Given the description of an element on the screen output the (x, y) to click on. 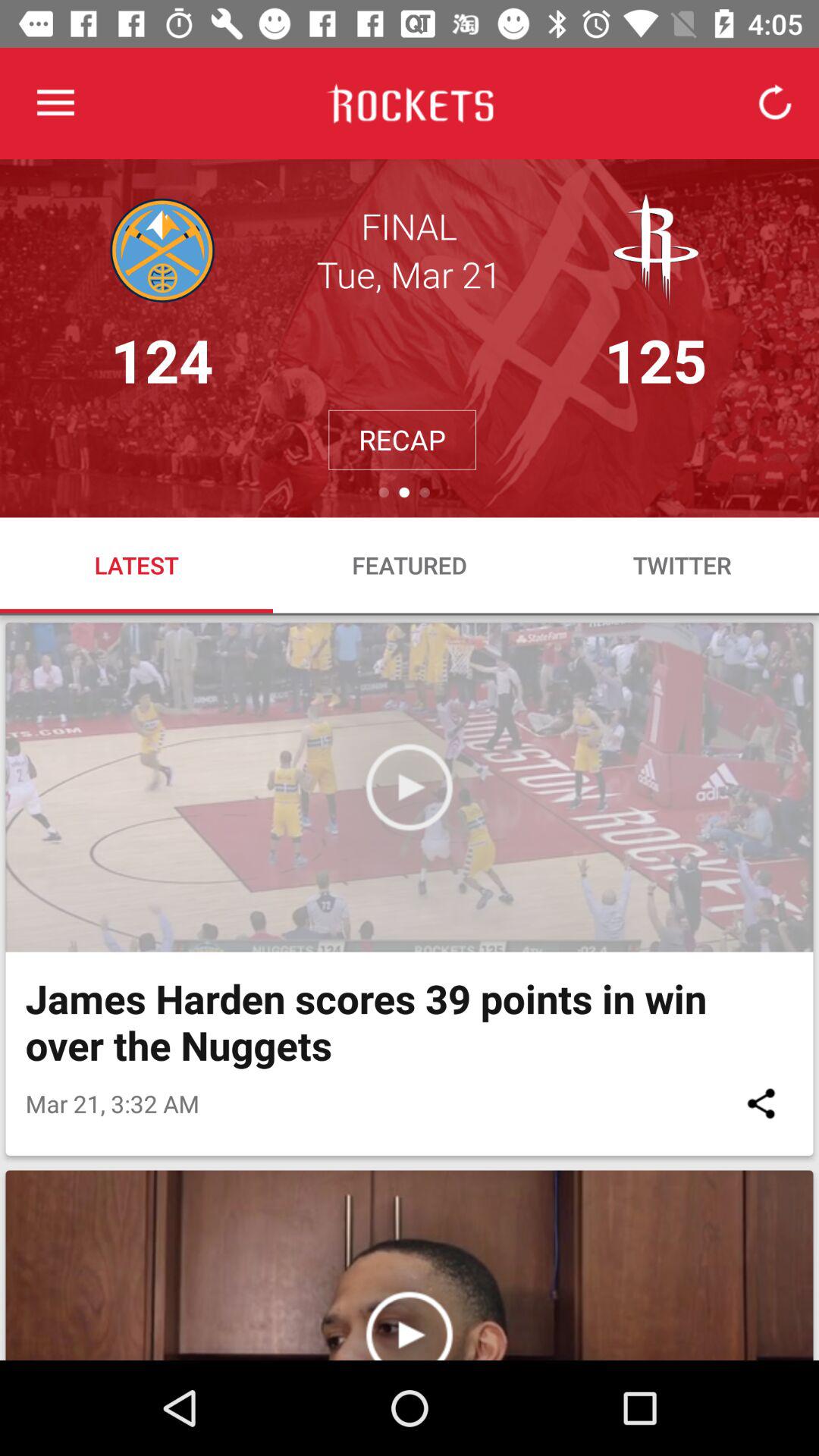
click icon next to mar 21 3 item (761, 1103)
